Given the description of an element on the screen output the (x, y) to click on. 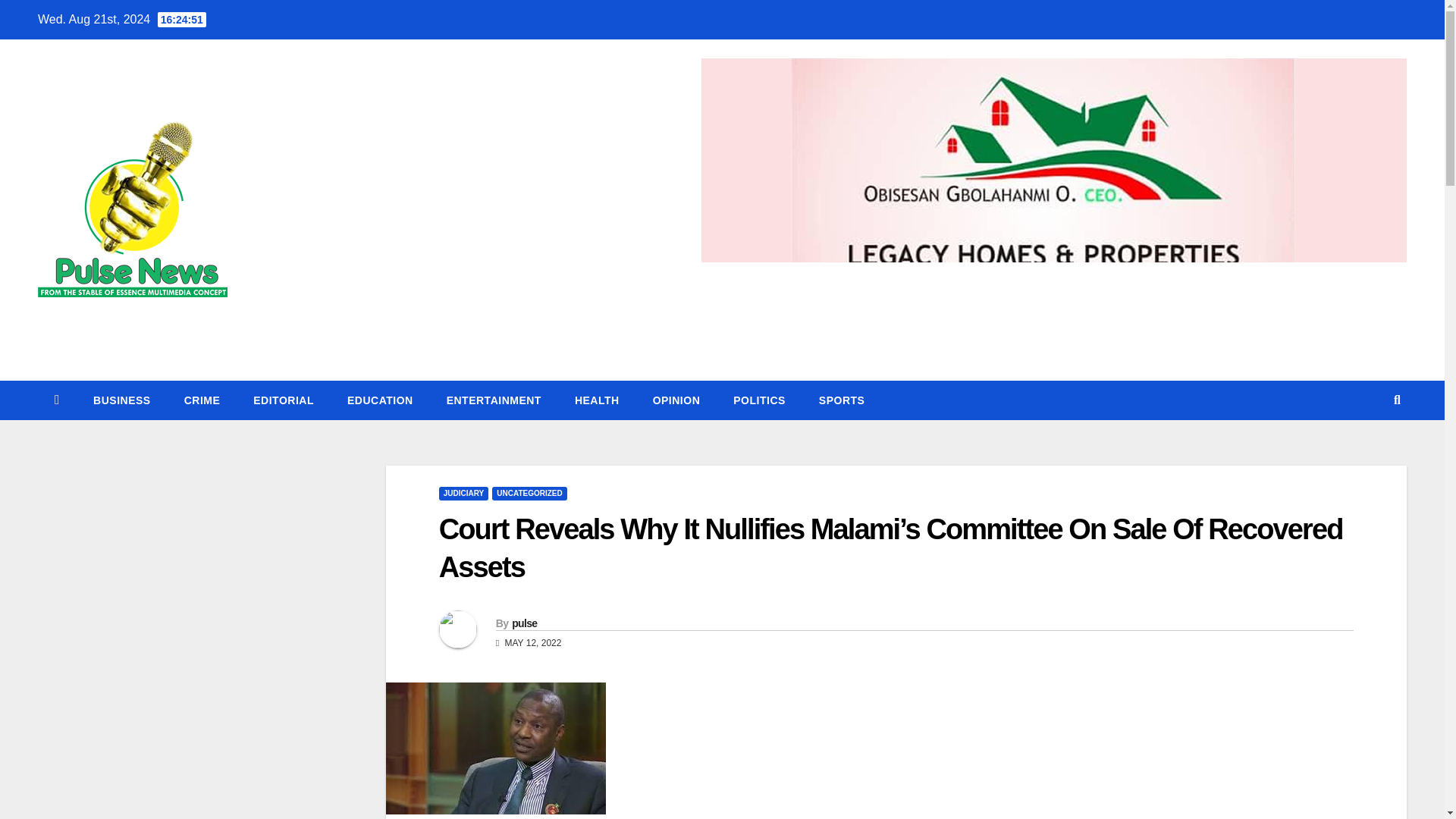
Opinion (676, 400)
EDUCATION (379, 400)
SPORTS (842, 400)
Crime (202, 400)
HEALTH (596, 400)
Politics (759, 400)
ENTERTAINMENT (493, 400)
Editorial (282, 400)
Business (122, 400)
CRIME (202, 400)
